Given the description of an element on the screen output the (x, y) to click on. 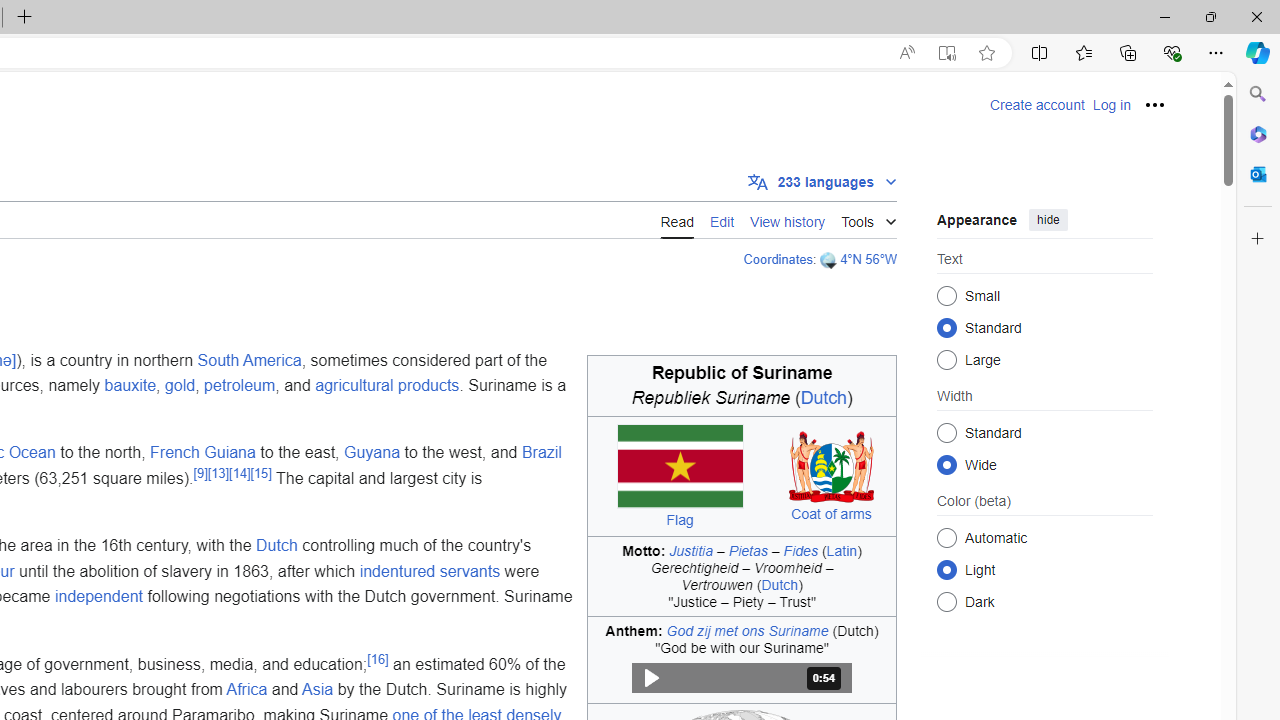
South America (249, 359)
Create account (1037, 105)
Automatic (946, 537)
hide (1048, 219)
Tools (868, 218)
[13] (218, 472)
Flag of Suriname Flag Coat of arms of Suriname Coat of arms (742, 476)
Read (676, 219)
Small (946, 295)
